Given the description of an element on the screen output the (x, y) to click on. 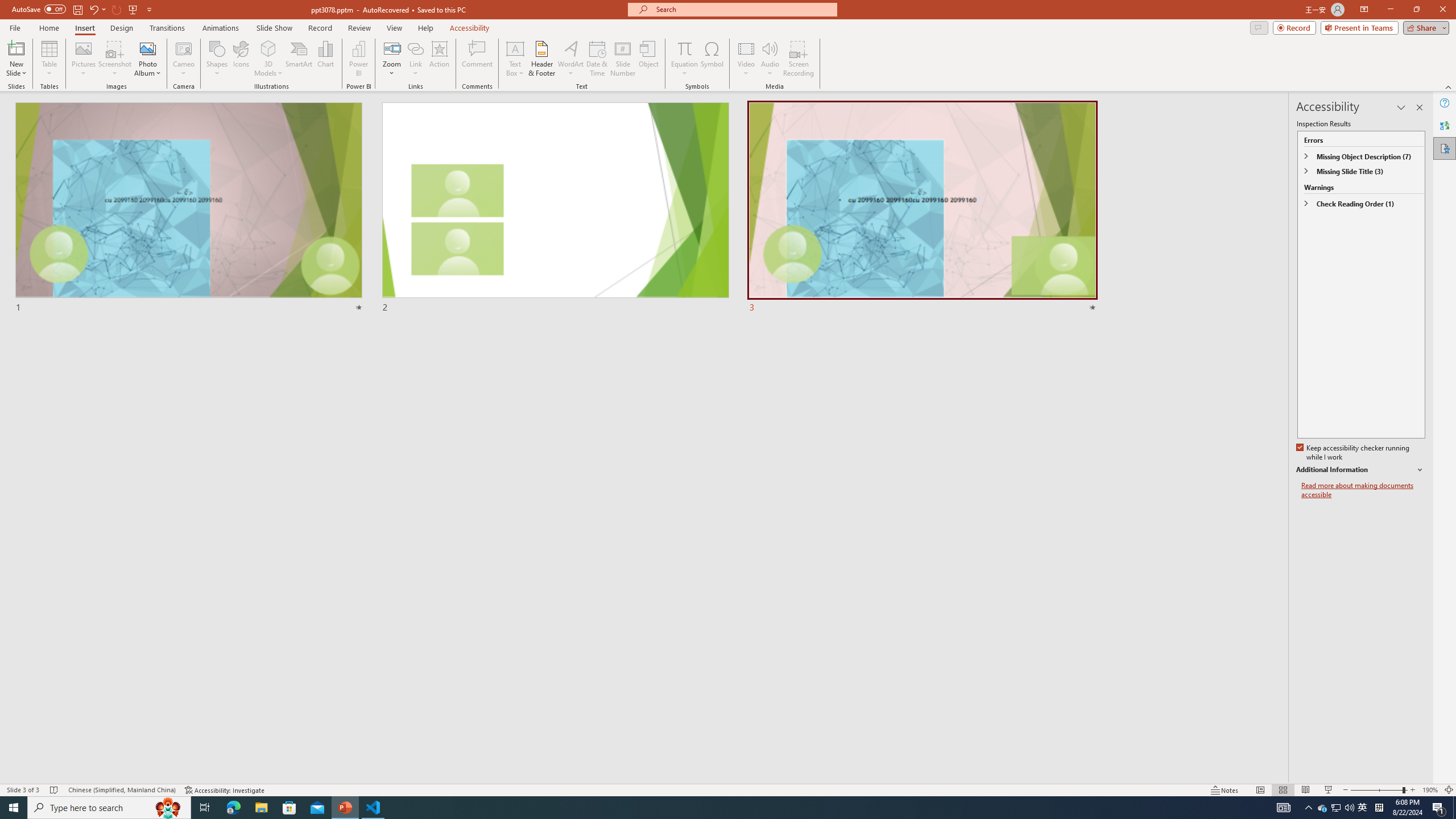
Link (415, 58)
Additional Information (1360, 469)
Power BI (358, 58)
3D Models (268, 58)
